Given the description of an element on the screen output the (x, y) to click on. 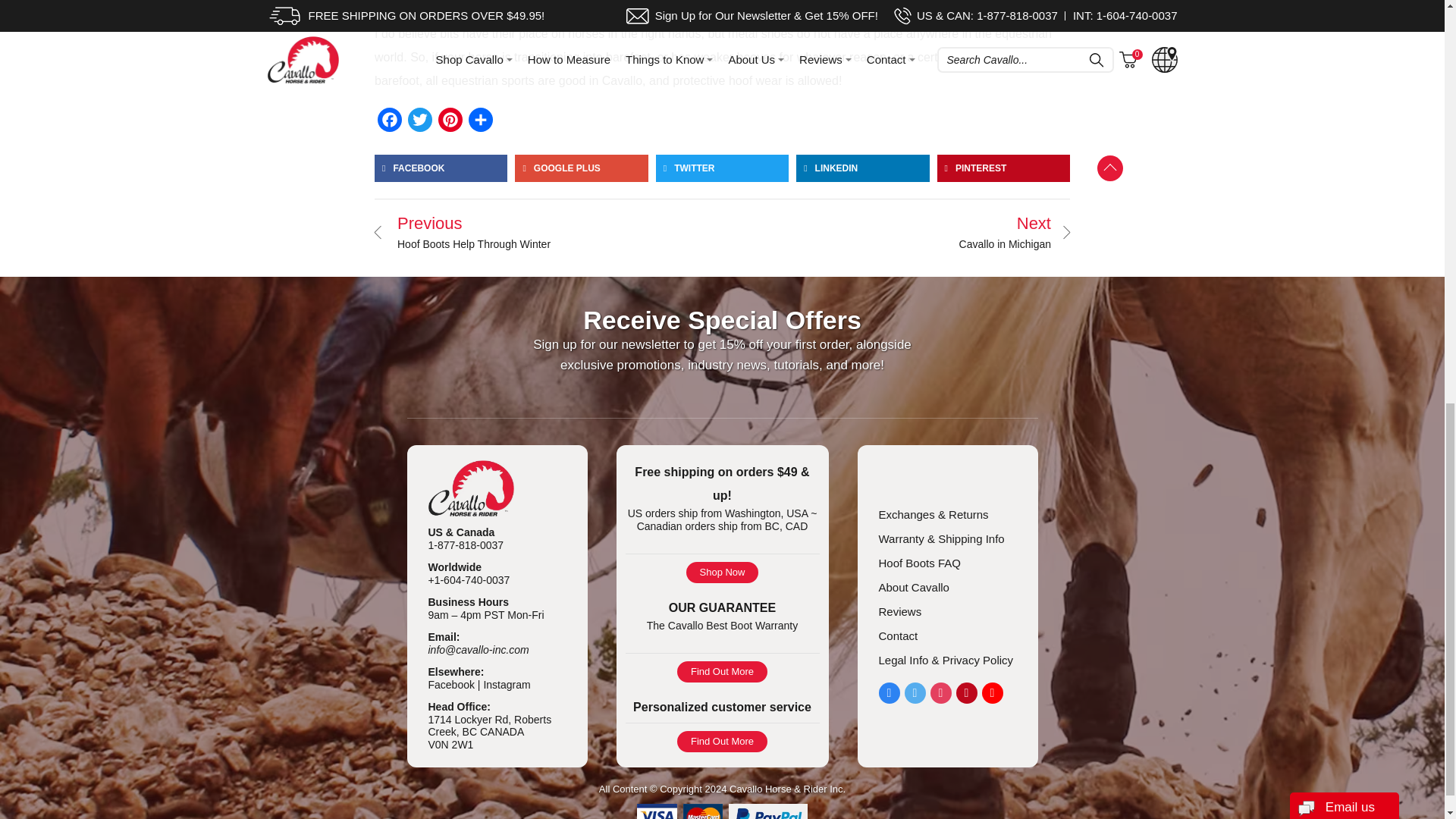
Facebook (389, 119)
Pinterest (450, 119)
Twitter (419, 119)
